Given the description of an element on the screen output the (x, y) to click on. 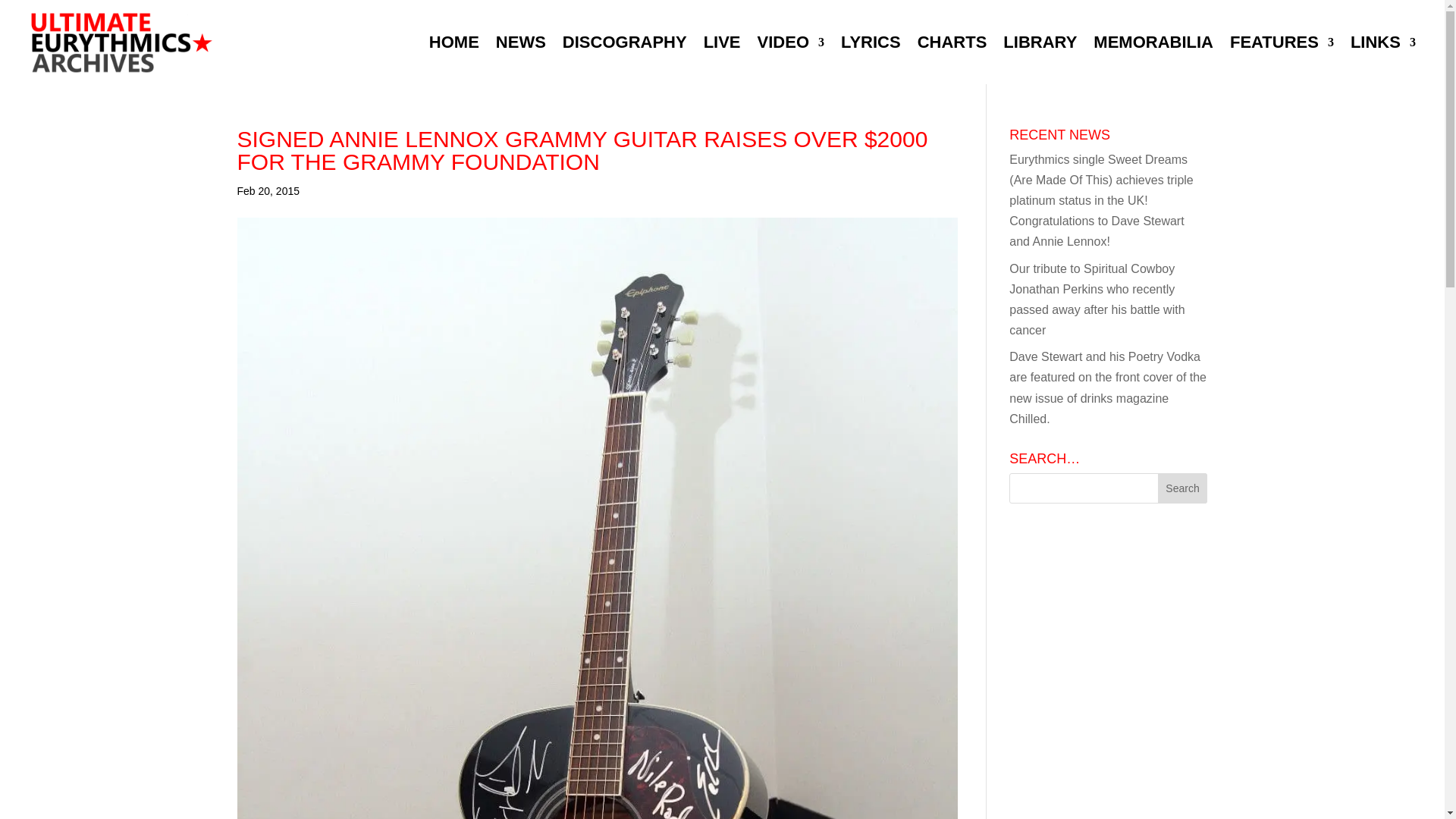
VIDEO (790, 42)
Search (1182, 488)
FEATURES (1281, 42)
MEMORABILIA (1152, 42)
LIBRARY (1040, 42)
DISCOGRAPHY (624, 42)
CHARTS (952, 42)
LYRICS (871, 42)
